Given the description of an element on the screen output the (x, y) to click on. 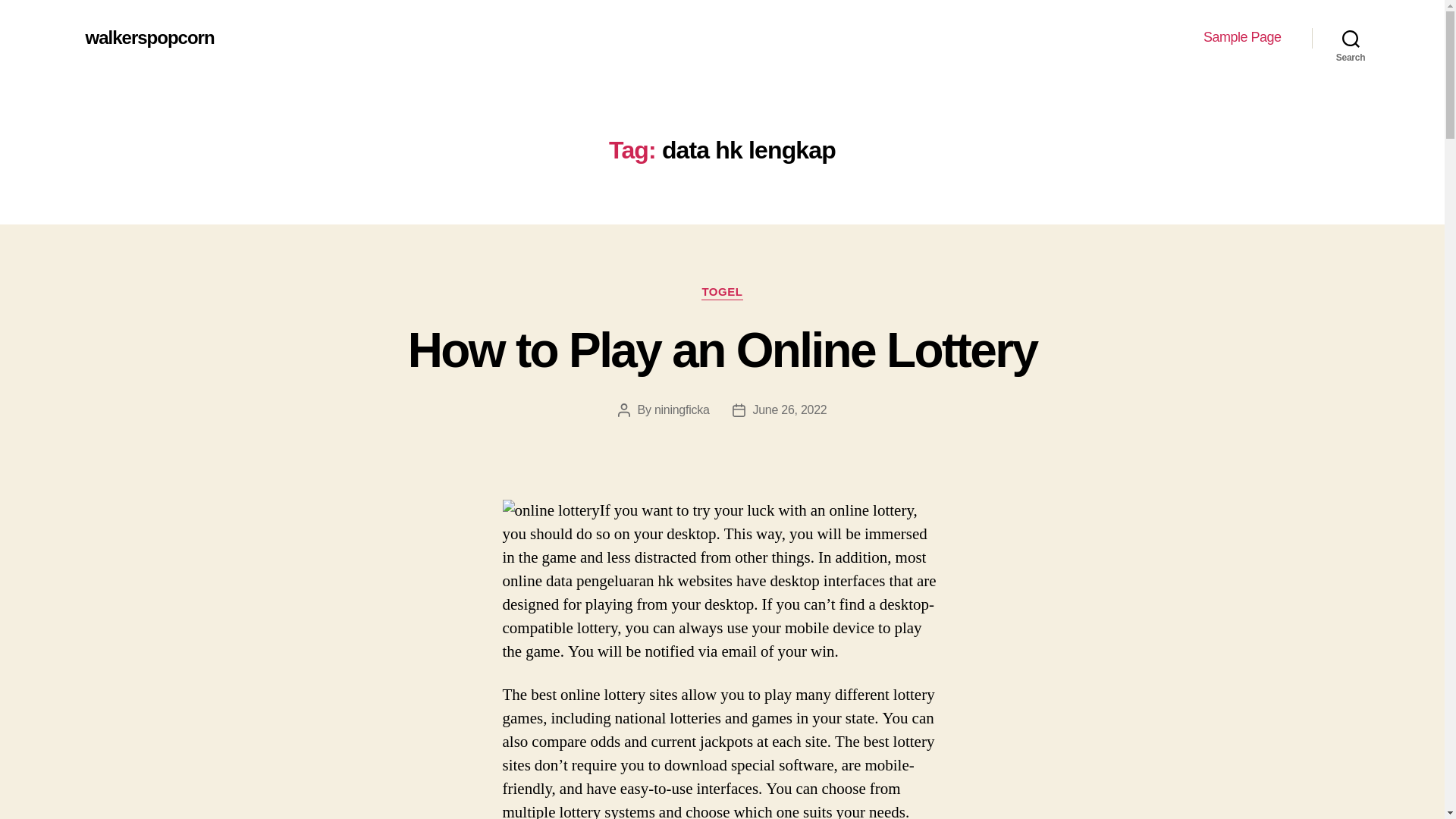
Search (1350, 37)
walkerspopcorn (149, 37)
TOGEL (721, 292)
June 26, 2022 (789, 409)
Sample Page (1242, 37)
How to Play an Online Lottery (721, 349)
niningficka (681, 409)
